Given the description of an element on the screen output the (x, y) to click on. 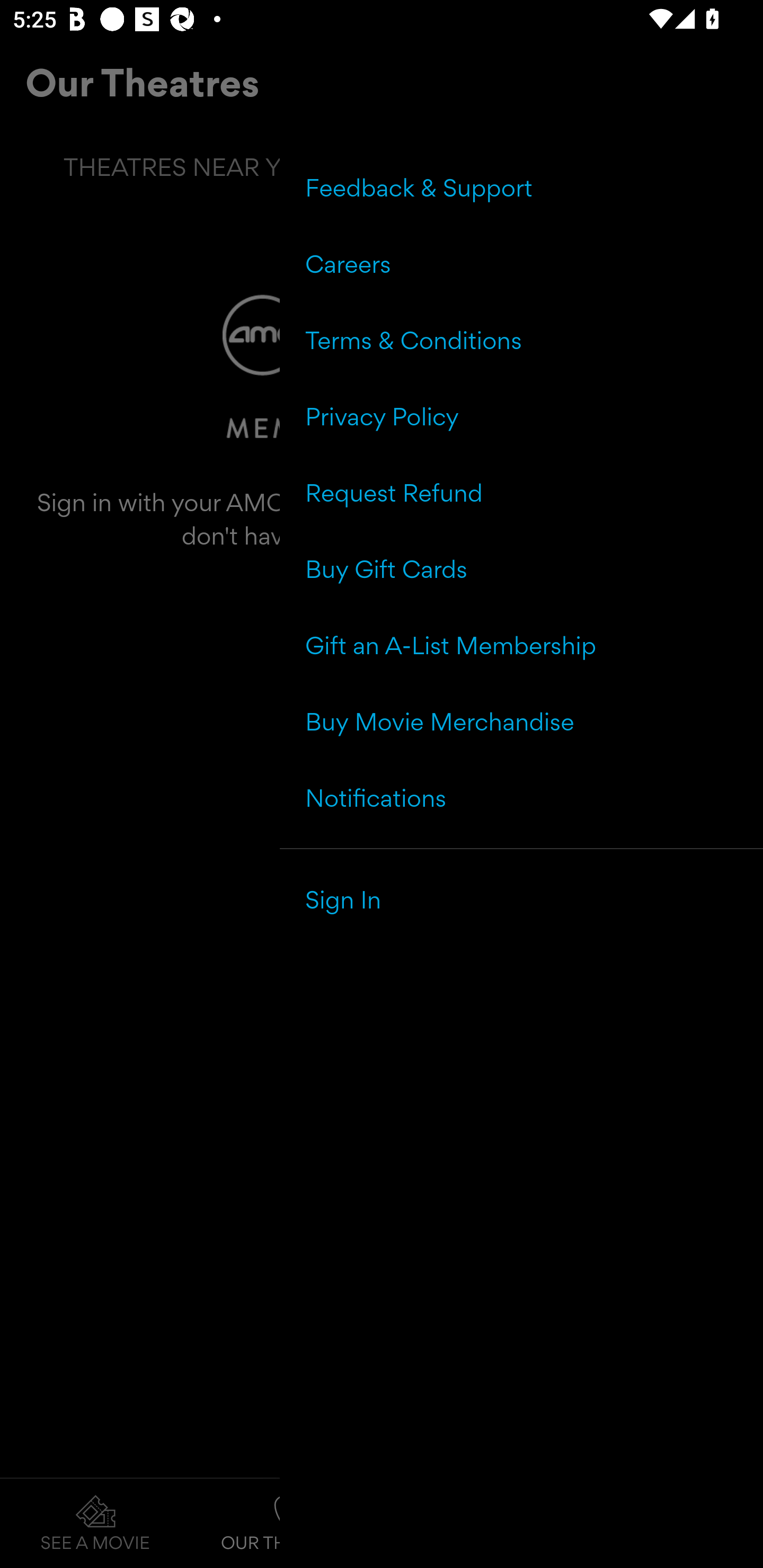
Feedback & Support (521, 186)
Careers (521, 263)
Terms & Conditions (521, 339)
Privacy Policy (521, 415)
Request Refund (521, 492)
Buy Gift Cards (521, 568)
Gift an A-List Membership (521, 644)
Buy Movie Merchandise (521, 720)
Notifications (521, 796)
Sign In (521, 898)
